Given the description of an element on the screen output the (x, y) to click on. 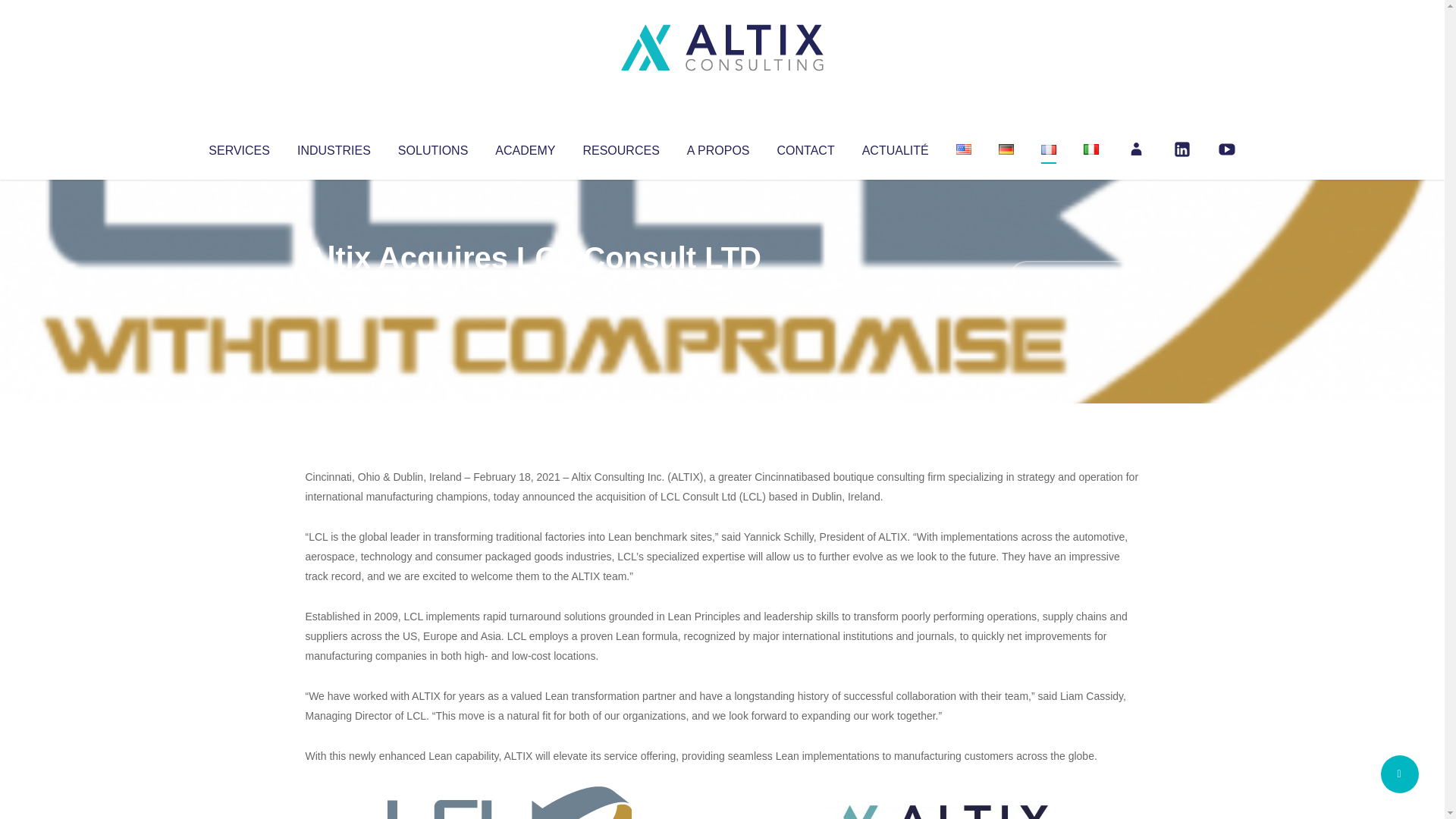
A PROPOS (718, 146)
Altix (333, 287)
ACADEMY (524, 146)
SERVICES (238, 146)
Articles par Altix (333, 287)
INDUSTRIES (334, 146)
Uncategorized (530, 287)
SOLUTIONS (432, 146)
No Comments (1073, 278)
RESOURCES (620, 146)
